Given the description of an element on the screen output the (x, y) to click on. 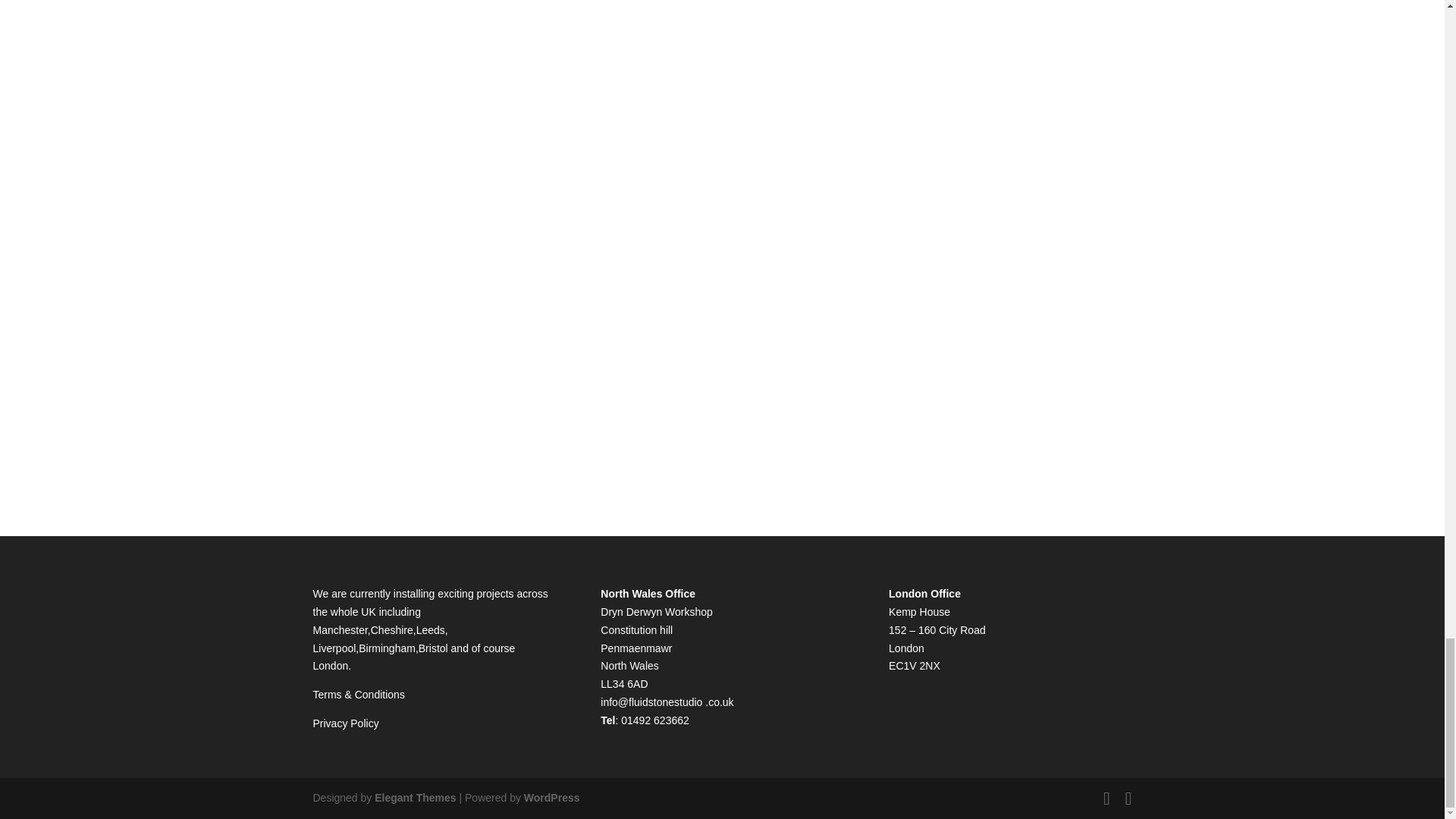
Premium WordPress Themes (414, 797)
Elegant Themes (414, 797)
Privacy Policy (345, 723)
WordPress (551, 797)
